Given the description of an element on the screen output the (x, y) to click on. 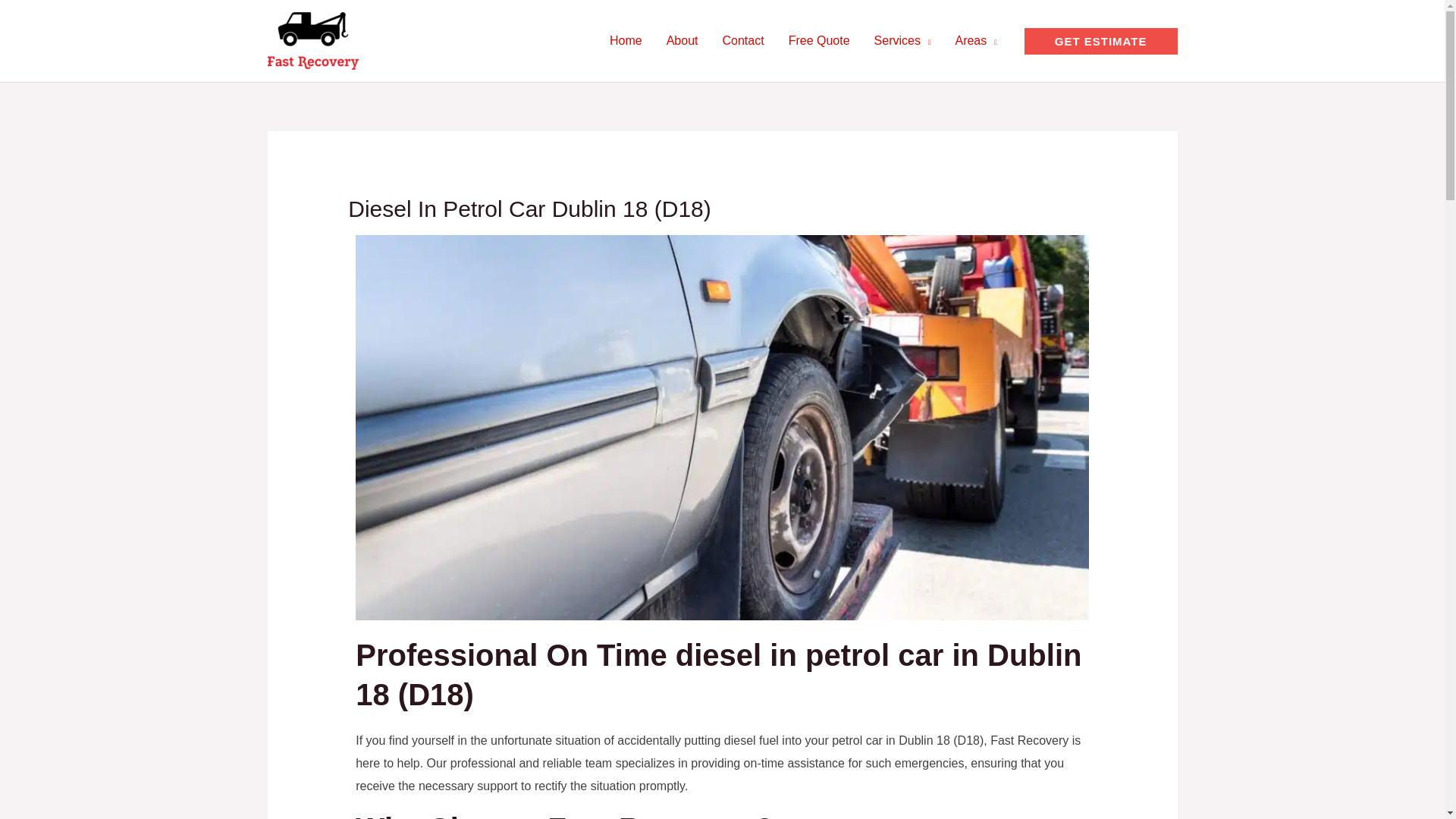
Contact (743, 40)
About (681, 40)
GET ESTIMATE (1101, 40)
Areas (975, 40)
Free Quote (818, 40)
Home (624, 40)
Services (902, 40)
